Given the description of an element on the screen output the (x, y) to click on. 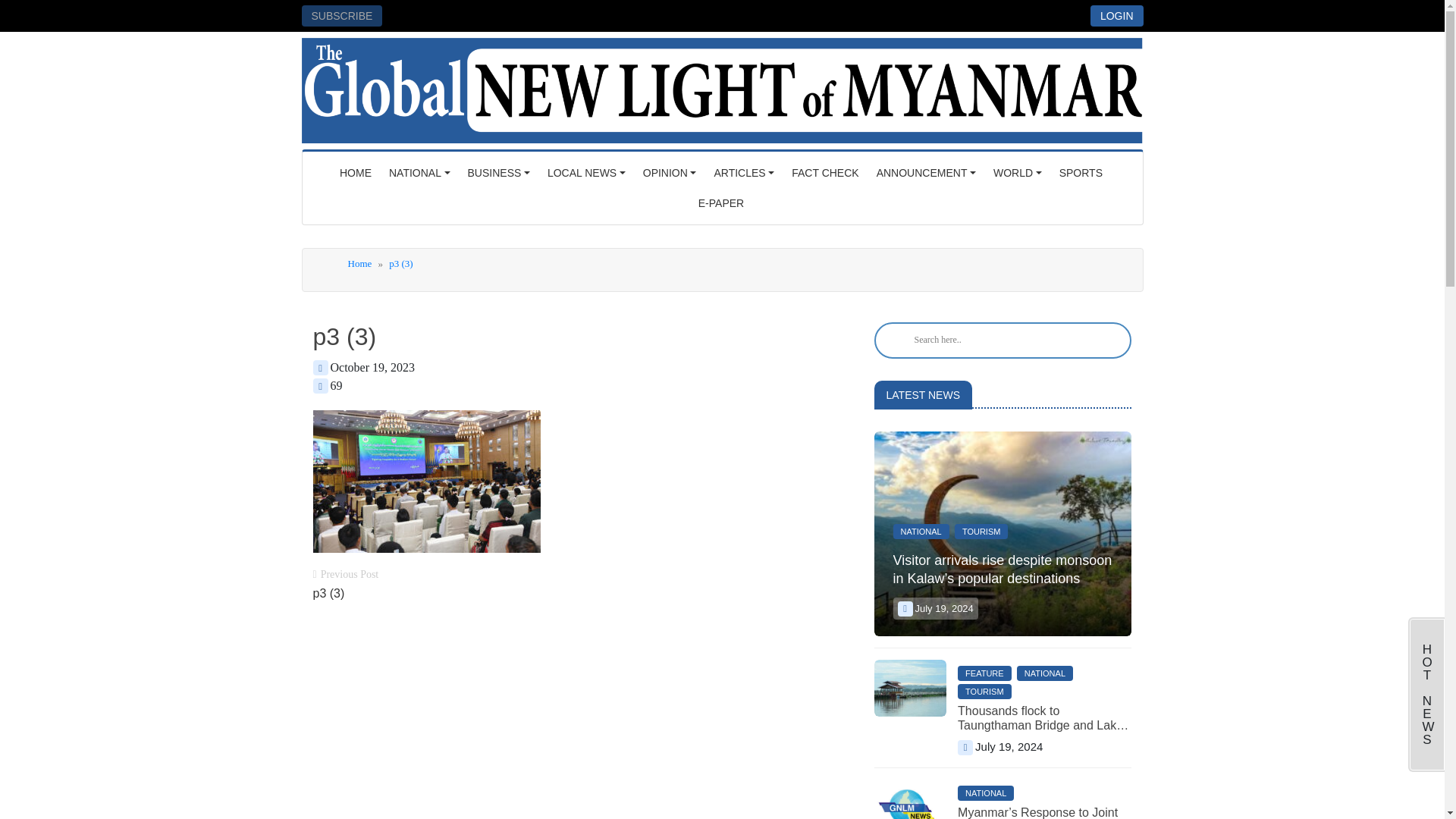
SUBSCRIBE (341, 15)
Business (498, 173)
OPINION (669, 173)
LOGIN (1116, 15)
NATIONAL (419, 173)
HOME (354, 173)
BUSINESS (498, 173)
Home (354, 173)
National (419, 173)
ANNOUNCEMENT (926, 173)
Local News (586, 173)
ARTICLES (743, 173)
Global New Light Of Myanmar (721, 87)
FACT CHECK (825, 173)
LOCAL NEWS (586, 173)
